Given the description of an element on the screen output the (x, y) to click on. 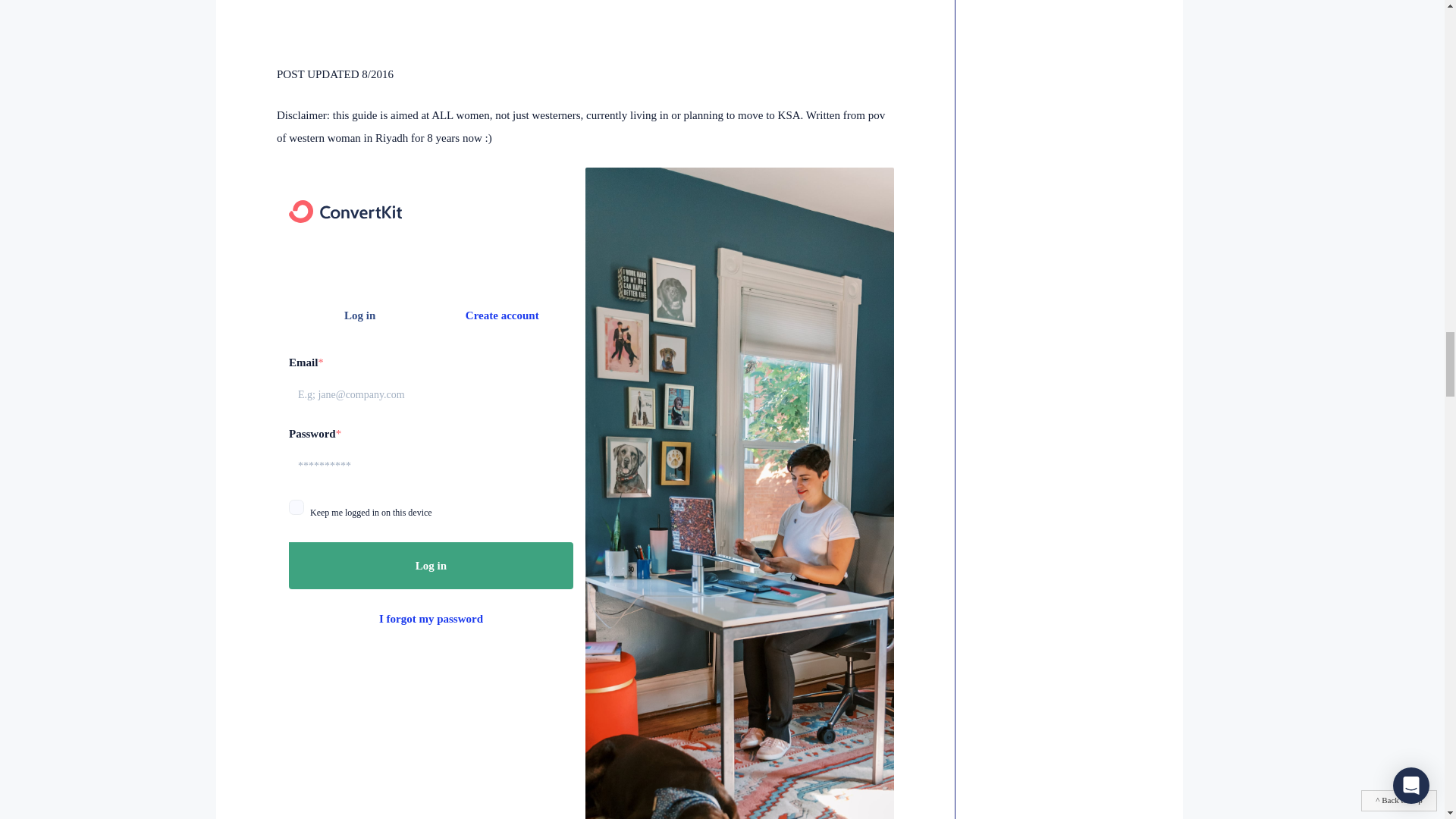
1 (296, 507)
